Given the description of an element on the screen output the (x, y) to click on. 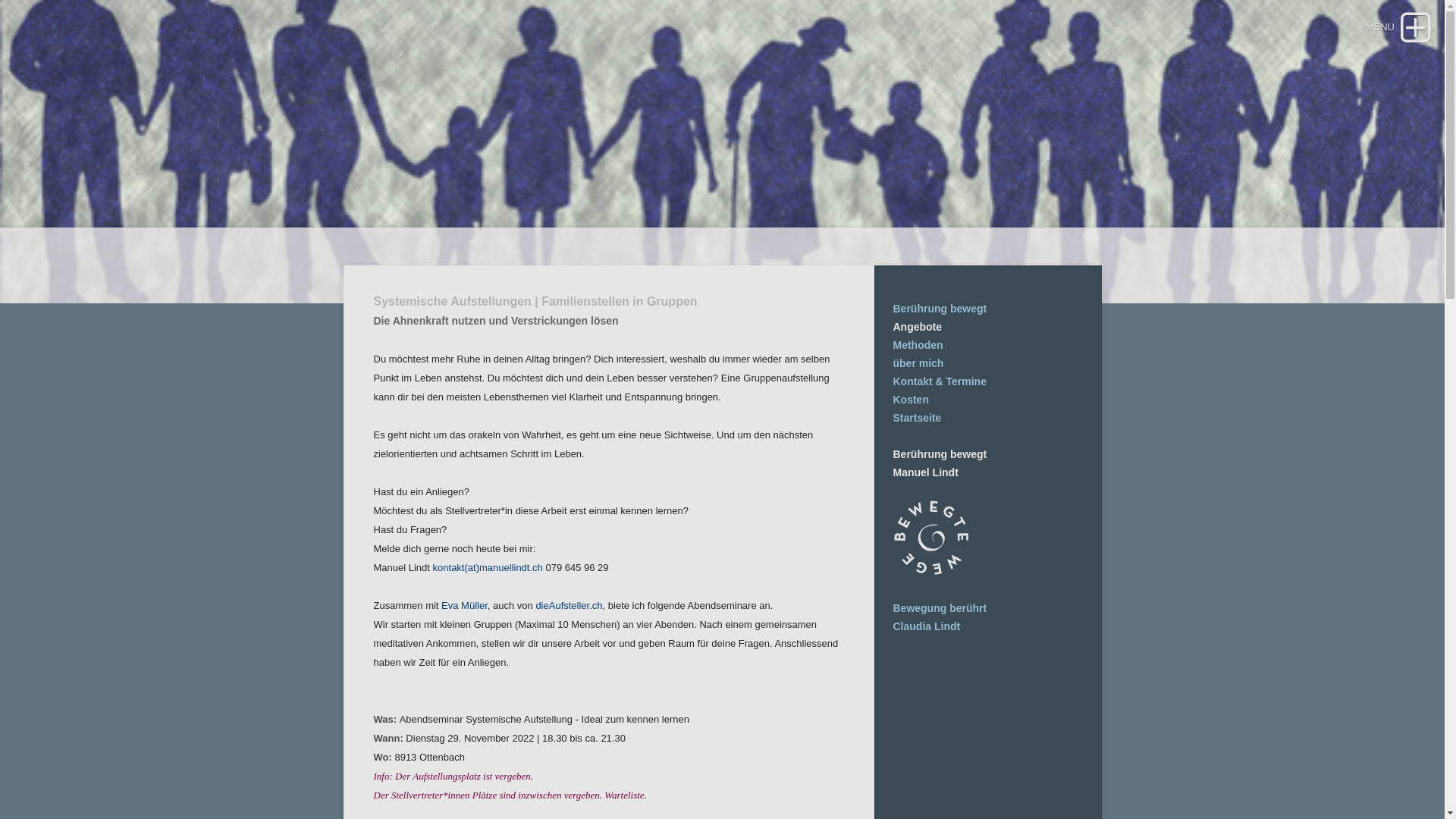
Kontakt & Termine Element type: text (939, 381)
Methoden Element type: text (918, 344)
dieAufsteller.ch Element type: text (568, 605)
Claudia Lindt Element type: text (926, 626)
kontakt(at)manuellindt.ch Element type: text (487, 567)
Startseite Element type: text (917, 417)
Kosten Element type: text (910, 399)
Willkommen Element type: hover (931, 571)
